Given the description of an element on the screen output the (x, y) to click on. 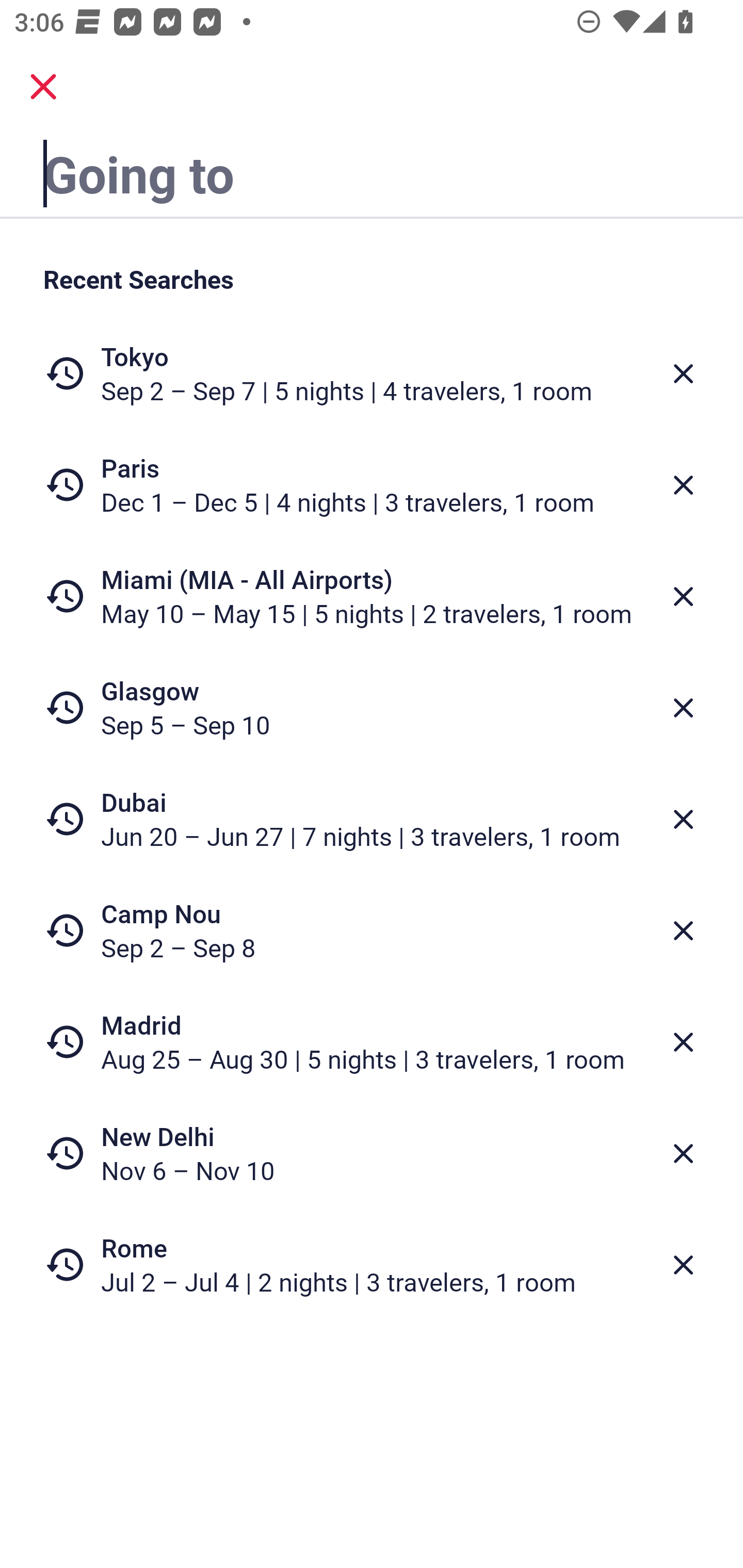
close. (43, 86)
Delete from recent searches (683, 373)
Delete from recent searches (683, 485)
Delete from recent searches (683, 596)
Glasgow Sep 5 – Sep 10 (371, 707)
Delete from recent searches (683, 707)
Delete from recent searches (683, 819)
Camp Nou Sep 2 – Sep 8 (371, 930)
Delete from recent searches (683, 930)
Delete from recent searches (683, 1041)
New Delhi Nov 6 – Nov 10 (371, 1152)
Delete from recent searches (683, 1153)
Delete from recent searches (683, 1265)
